Given the description of an element on the screen output the (x, y) to click on. 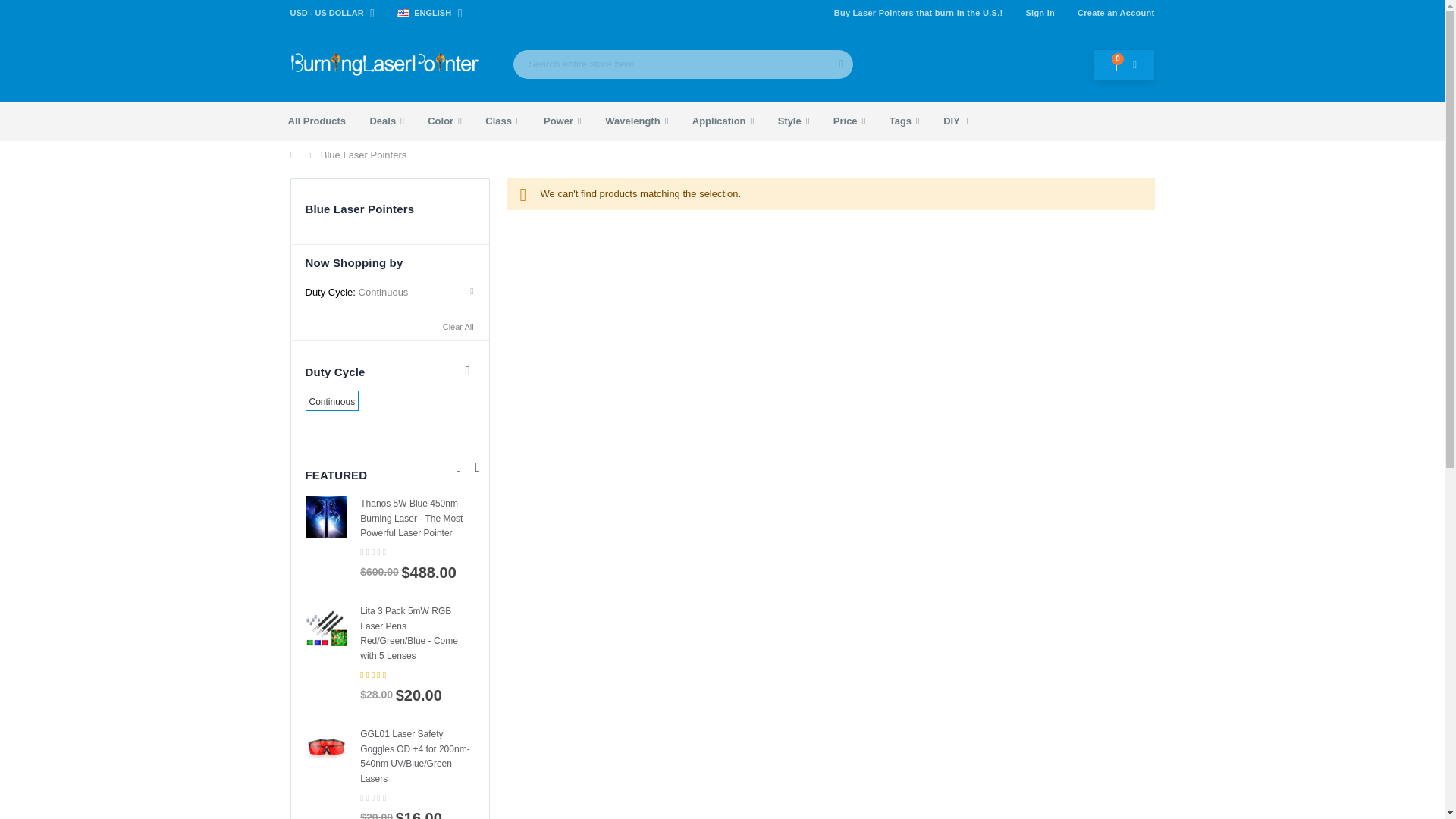
Sign In (1039, 12)
All Products (317, 120)
Color (444, 120)
Create an Account (1109, 12)
Power (562, 120)
Deals (385, 120)
Burning Laser Pointers (384, 63)
Class (502, 120)
